Given the description of an element on the screen output the (x, y) to click on. 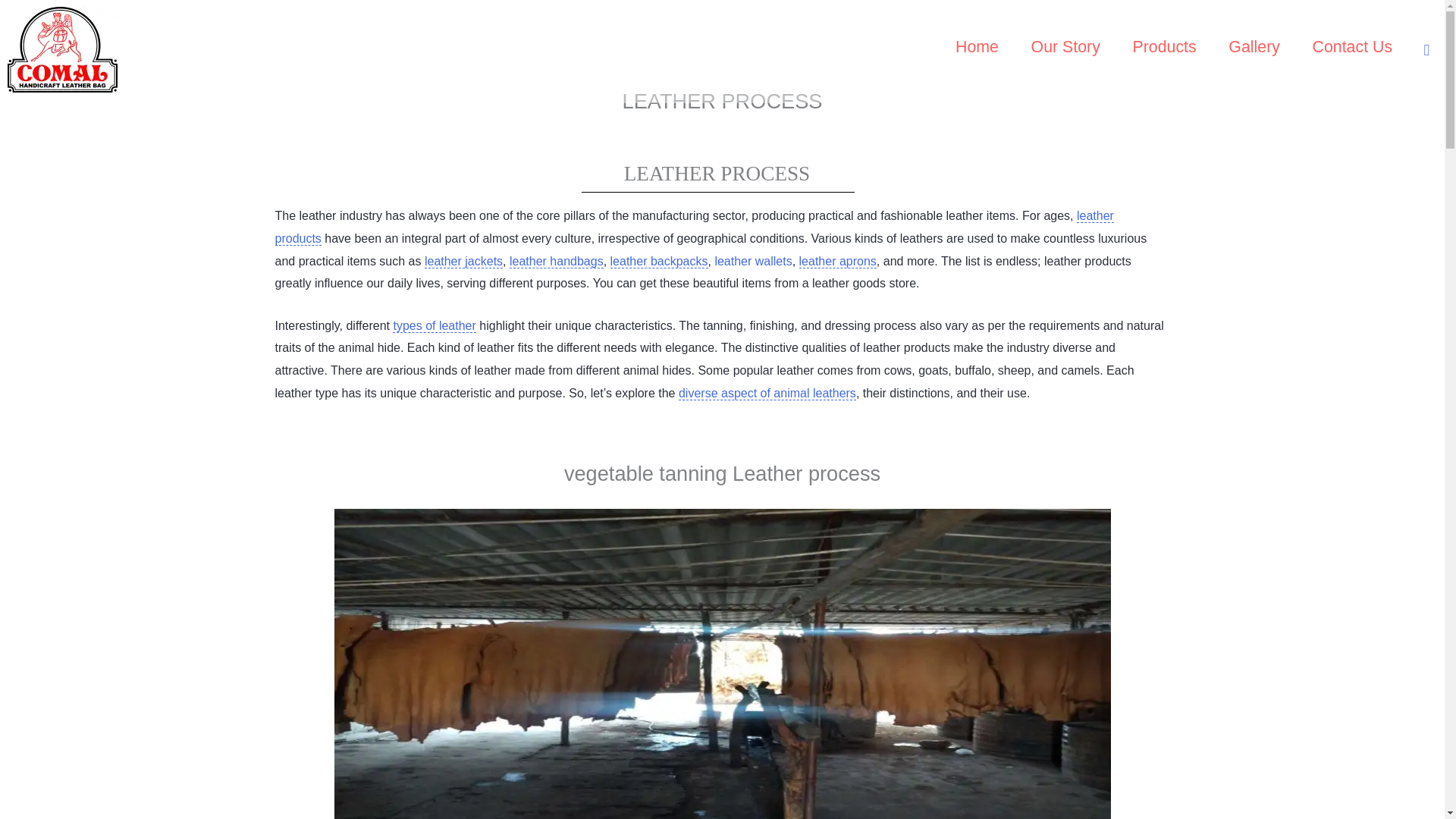
Products (1164, 50)
Gallery (1253, 50)
Home (976, 50)
Contact Us (1351, 50)
Our Story (1065, 50)
